Given the description of an element on the screen output the (x, y) to click on. 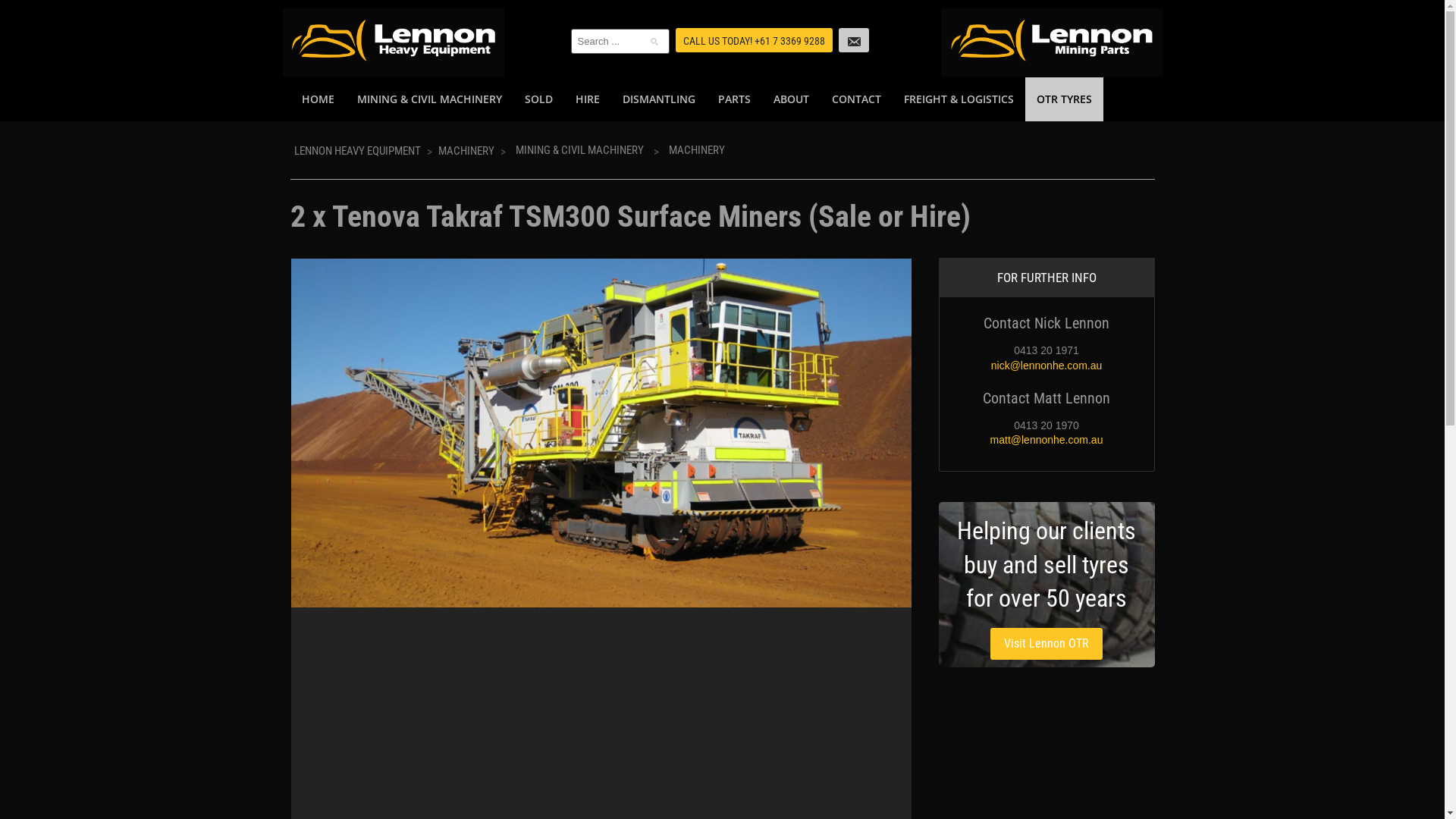
nick@lennonhe.com.au Element type: text (1046, 365)
DISMANTLING Element type: text (658, 99)
CALL US TODAY! +61 7 3369 9288 Element type: text (752, 40)
MACHINERY Element type: text (466, 150)
Visit Lennon OTR Element type: text (1046, 643)
ABOUT Element type: text (790, 99)
MINING & CIVIL MACHINERY Element type: text (429, 99)
HOME Element type: text (317, 99)
Lennon Heavy Equipment Element type: hover (396, 35)
LENNON HEAVY EQUIPMENT Element type: text (357, 150)
OTR TYRES Element type: text (1064, 99)
SOLD Element type: text (537, 99)
CONTACT Element type: text (856, 99)
FREIGHT & LOGISTICS Element type: text (957, 99)
PARTS Element type: text (734, 99)
matt@lennonhe.com.au Element type: text (1046, 439)
MINING & CIVIL MACHINERY Element type: text (578, 149)
HIRE Element type: text (587, 99)
